Given the description of an element on the screen output the (x, y) to click on. 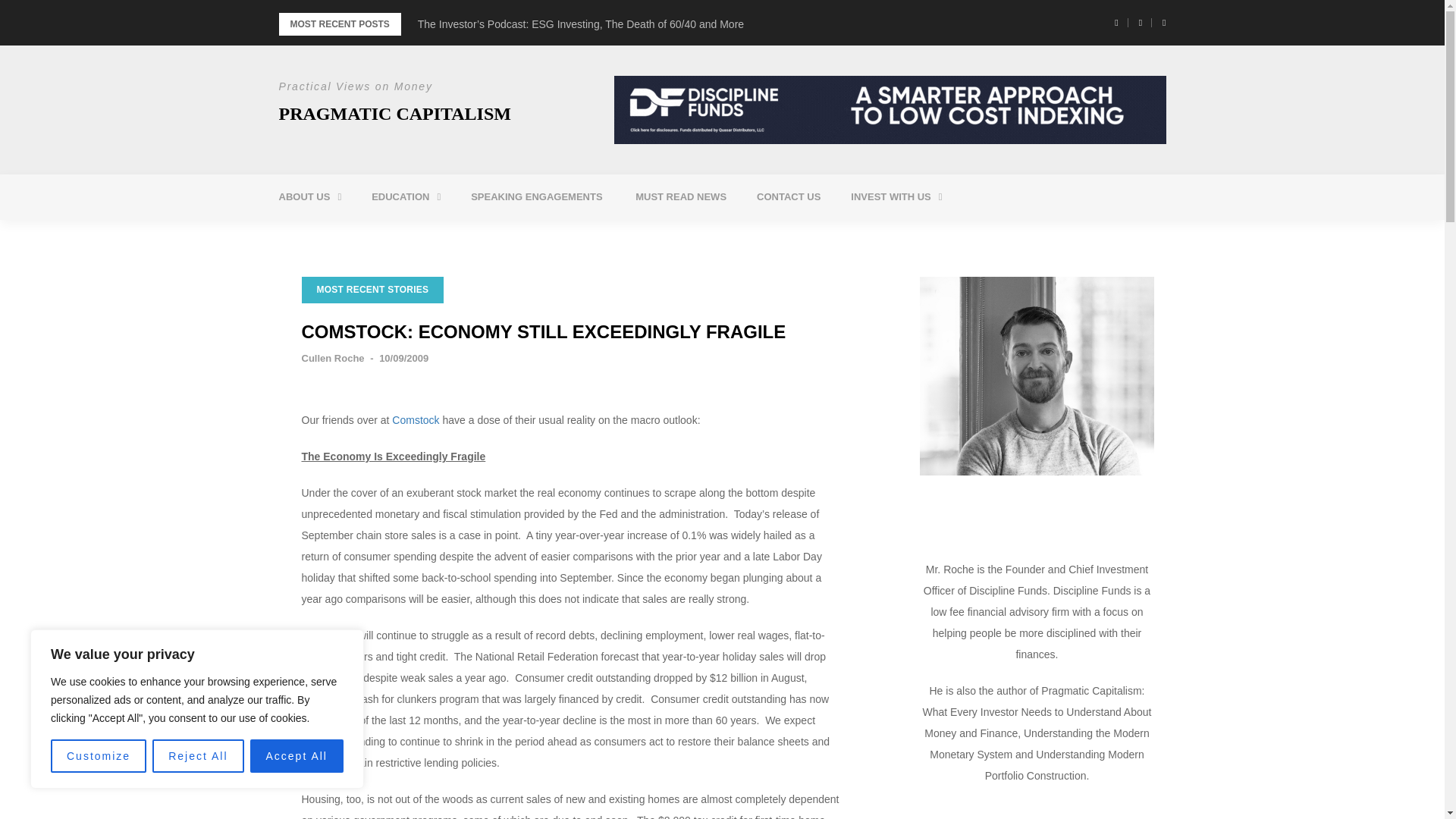
About Us (309, 197)
Meet Cullen Roche! (365, 235)
Accept All (296, 756)
ABOUT US (309, 197)
PRAGMATIC CAPITALISM (395, 113)
EDUCATION (405, 197)
Customize (98, 756)
Meet Cullen Roche! (365, 235)
Reject All (197, 756)
Understanding Money (458, 235)
